Given the description of an element on the screen output the (x, y) to click on. 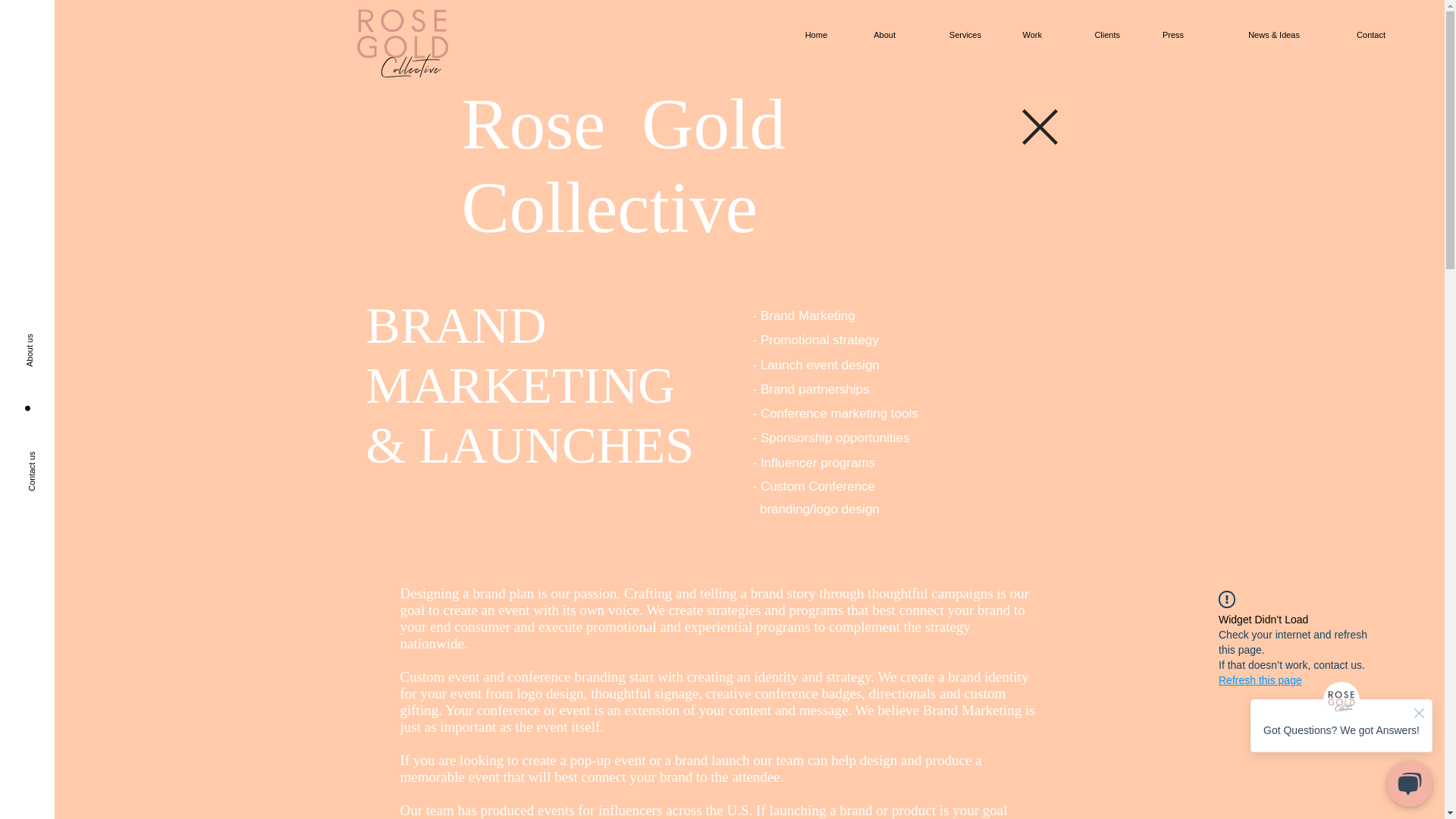
Refresh this page (1259, 679)
About us (62, 316)
Press (1163, 34)
Services (949, 34)
Work (1022, 34)
Contact (1353, 34)
Clients (1091, 34)
Home (808, 34)
Contact us (66, 436)
About (872, 34)
